Given the description of an element on the screen output the (x, y) to click on. 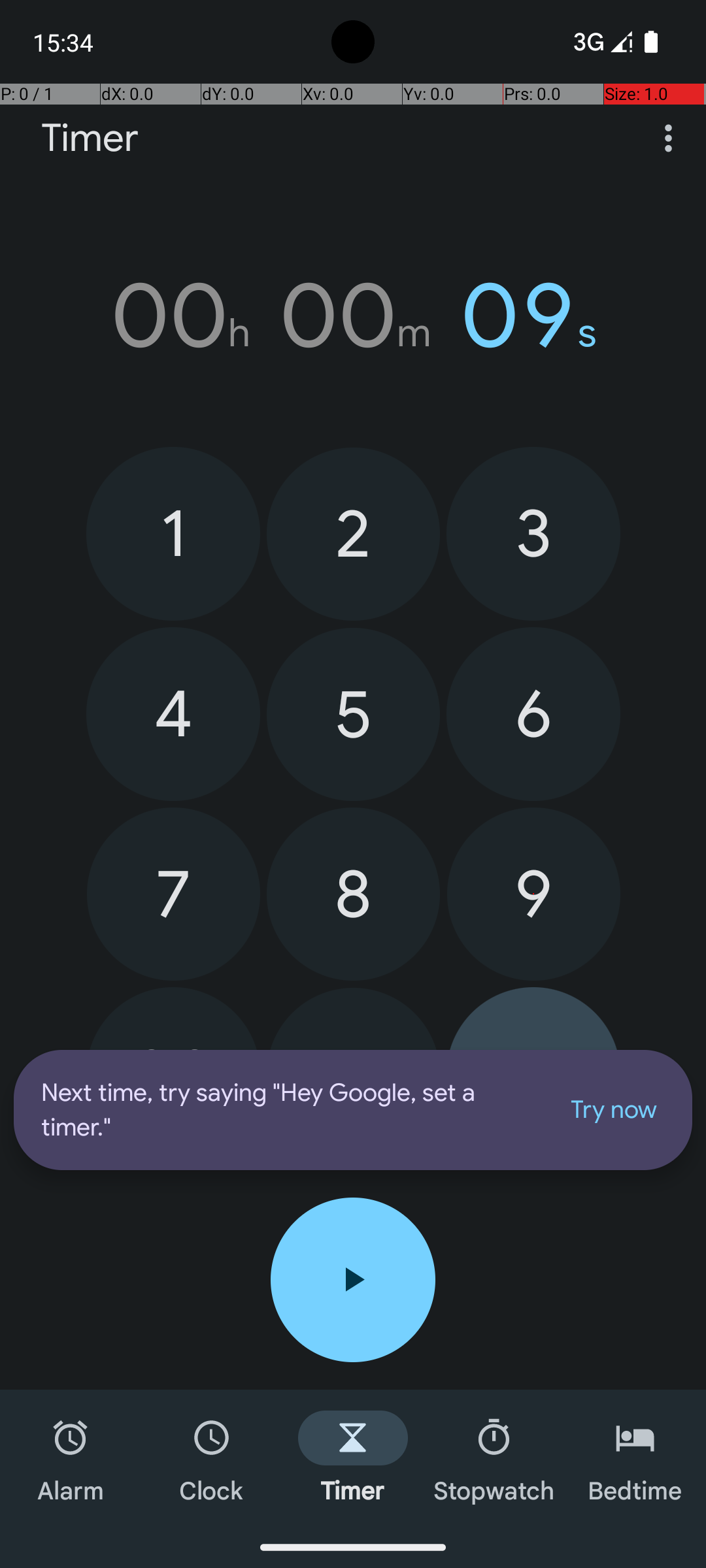
00h 00m 09s Element type: android.widget.TextView (353, 315)
Next time, try saying "Hey Google, set a timer." Element type: android.widget.TextView (288, 1109)
Try now Element type: android.widget.Button (613, 1109)
